Given the description of an element on the screen output the (x, y) to click on. 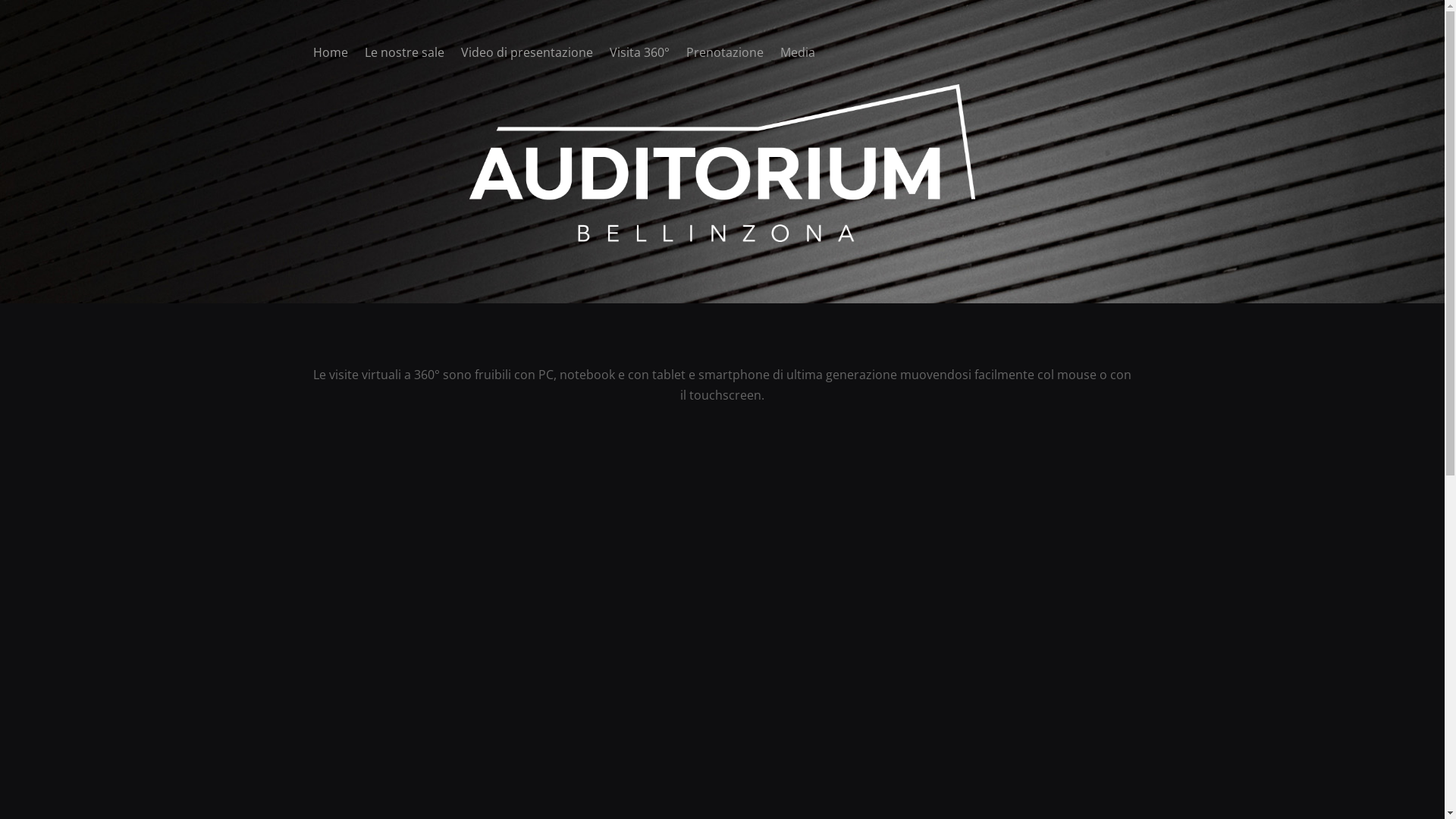
Prenotazione Element type: text (723, 55)
Video di presentazione Element type: text (527, 55)
Le nostre sale Element type: text (403, 55)
Home Element type: text (329, 55)
Media Element type: text (796, 55)
